Given the description of an element on the screen output the (x, y) to click on. 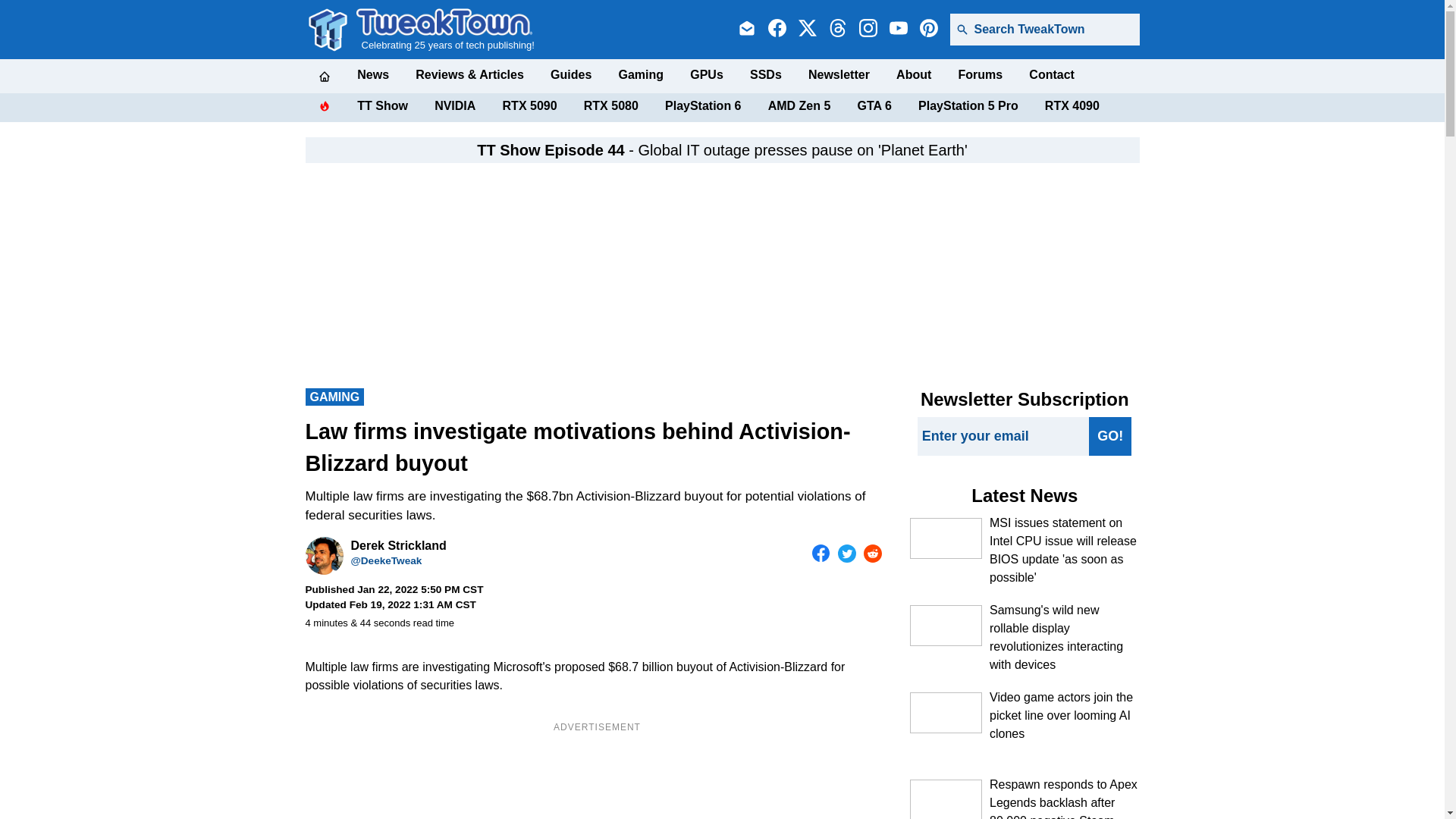
Share on Reddit (871, 553)
Derek Strickland (323, 555)
Share on Facebook (819, 553)
News (372, 74)
Share on Twitter (846, 553)
GO! (1110, 435)
Celebrating 25 years of tech publishing! (445, 29)
